Given the description of an element on the screen output the (x, y) to click on. 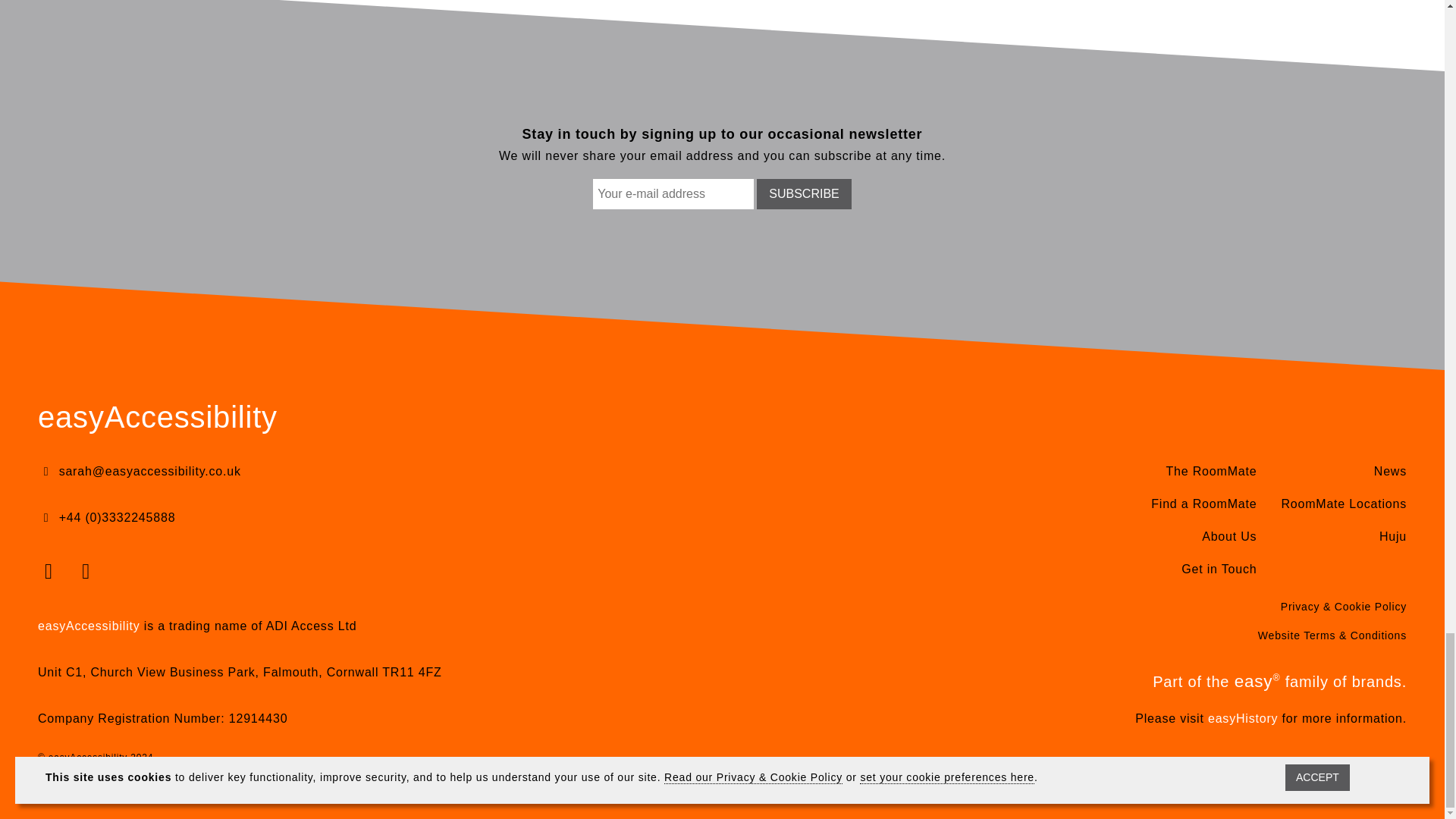
go to the home page (157, 419)
easyAccessibility on Facebook (52, 571)
Subscribe (803, 194)
